Given the description of an element on the screen output the (x, y) to click on. 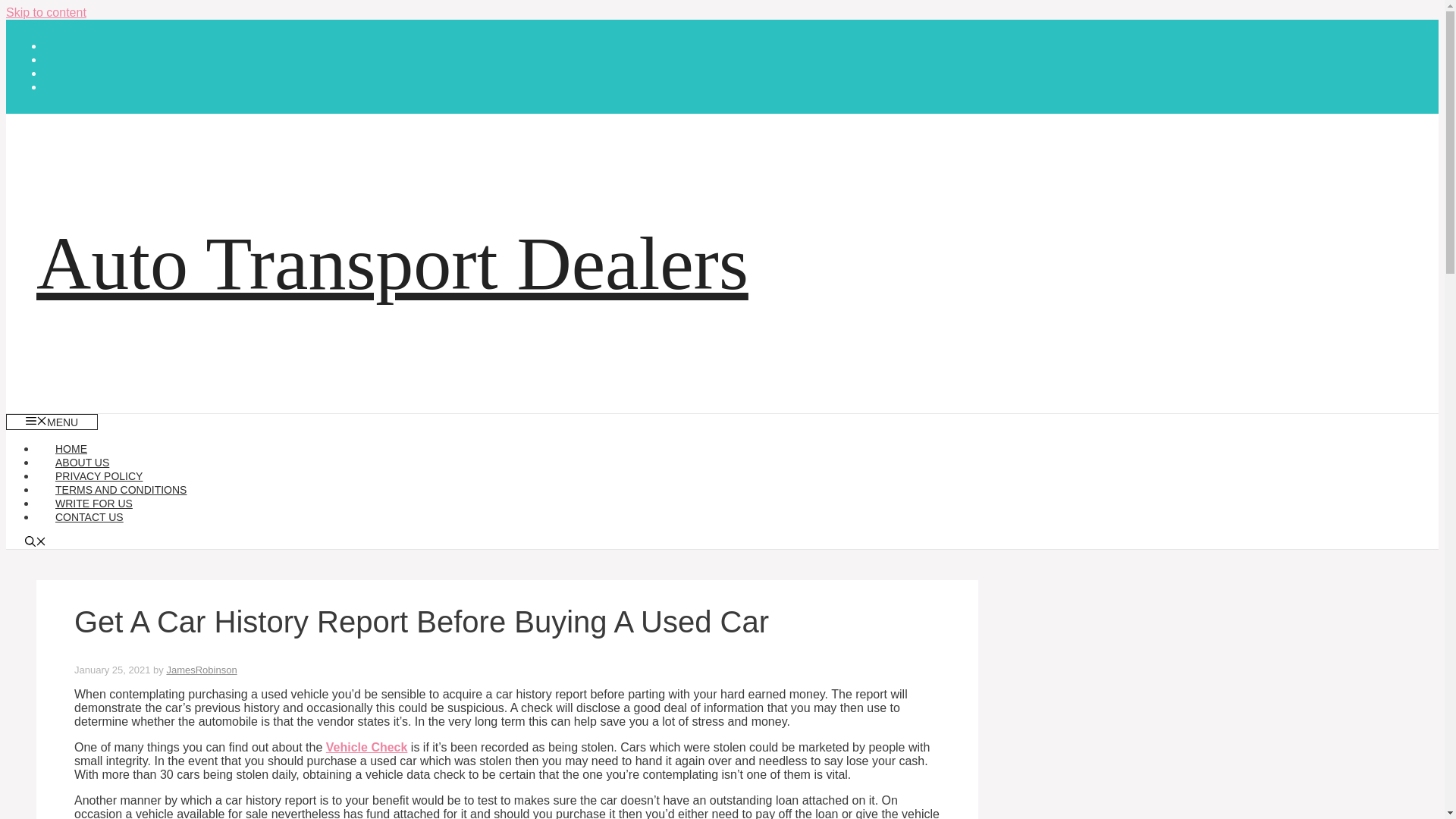
Auto Transport Dealers (392, 263)
HOME (71, 449)
MENU (51, 421)
TERMS AND CONDITIONS (120, 490)
Vehicle Check (366, 747)
ABOUT US (82, 462)
Skip to content (45, 11)
WRITE FOR US (93, 503)
View all posts by JamesRobinson (200, 669)
PRIVACY POLICY (98, 476)
